Given the description of an element on the screen output the (x, y) to click on. 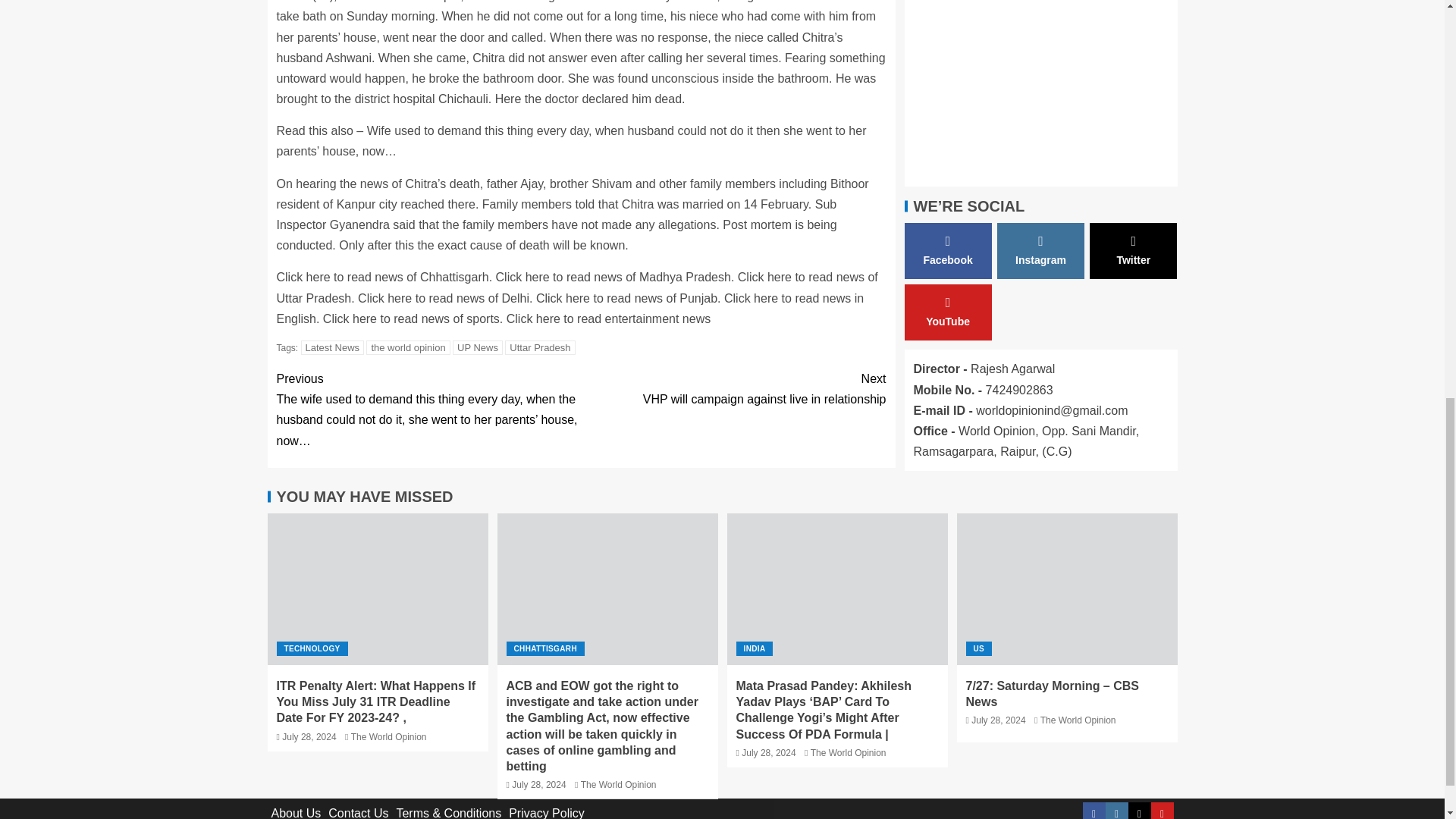
Uttar Pradesh (540, 347)
Latest News (732, 388)
UP News (333, 347)
the world opinion (477, 347)
